Given the description of an element on the screen output the (x, y) to click on. 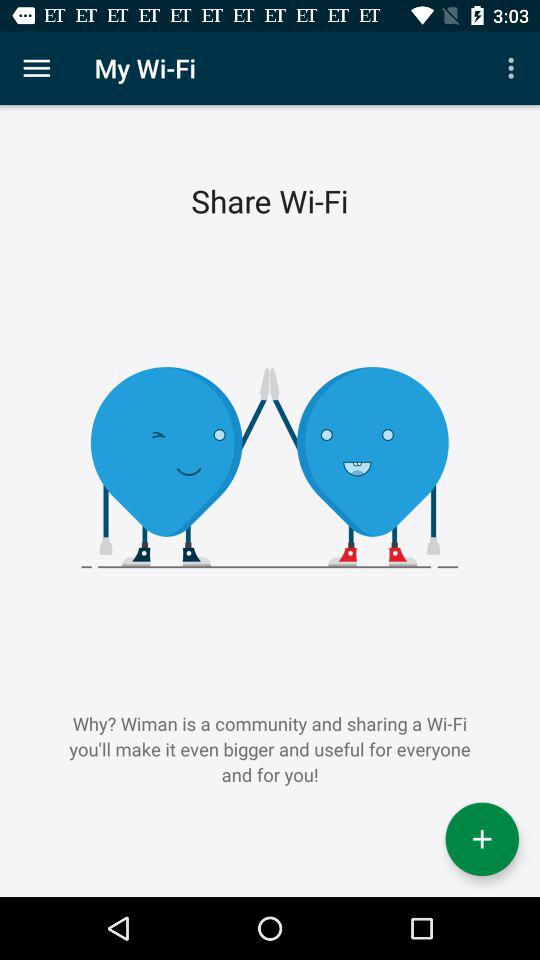
its a menu button in app which you click and menu from left will pop up (36, 68)
